Given the description of an element on the screen output the (x, y) to click on. 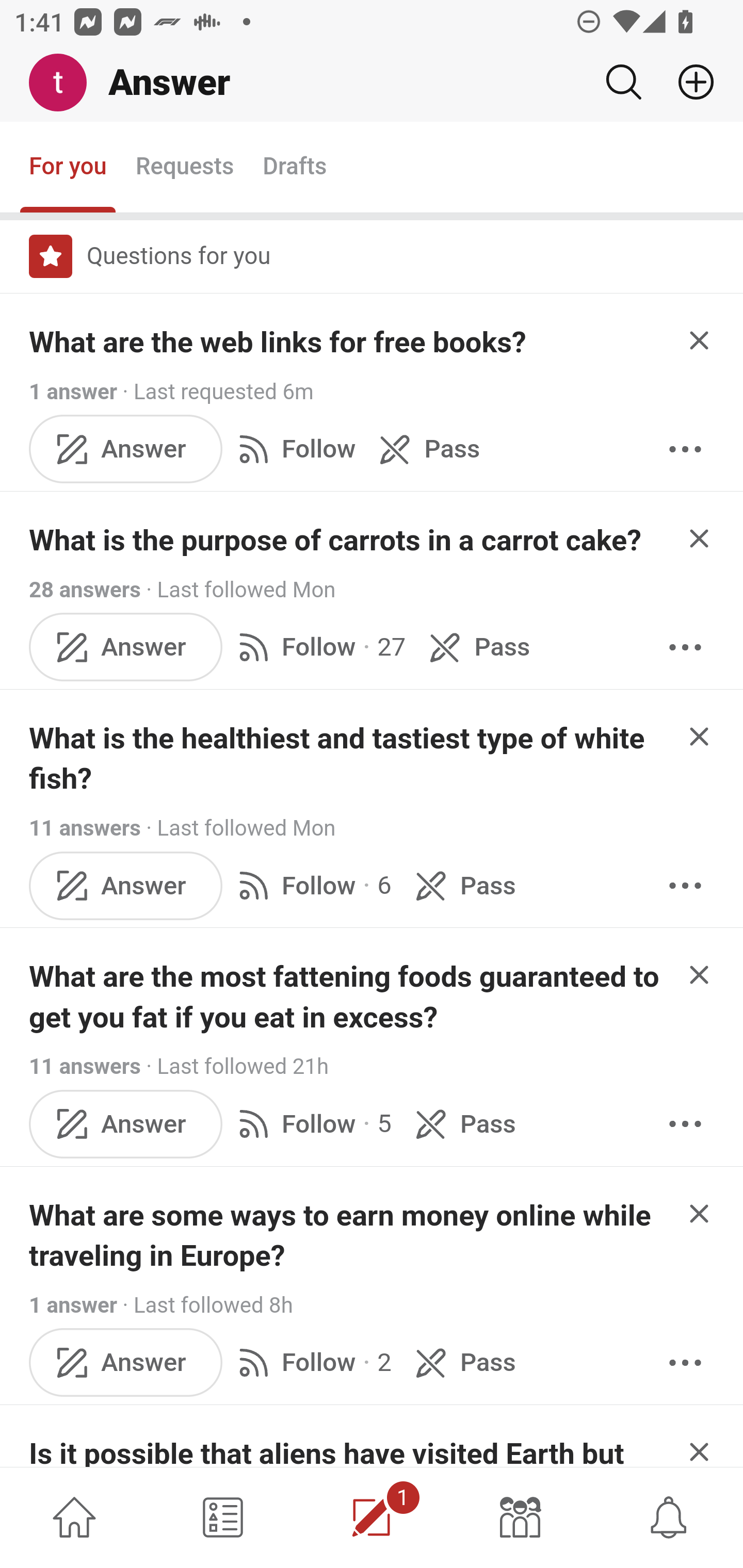
Me (64, 83)
Search (623, 82)
Add (688, 82)
For you (68, 167)
Requests (183, 167)
Drafts (295, 167)
Hide (699, 340)
What are the web links for free books? (277, 342)
1 answer 1  answer (73, 390)
Answer (125, 448)
Follow (293, 448)
Pass (425, 448)
More (684, 448)
Hide (699, 537)
What is the purpose of carrots in a carrot cake? (335, 540)
28 answers 28  answers (84, 590)
Answer (125, 648)
Follow · 27 (317, 648)
Pass (476, 648)
More (684, 648)
Hide (699, 735)
11 answers 11  answers (84, 828)
Answer (125, 886)
Follow · 6 (311, 886)
Pass (461, 886)
More (684, 886)
Hide (699, 974)
11 answers 11  answers (84, 1066)
Answer (125, 1123)
Follow · 5 (311, 1123)
Pass (461, 1123)
More (684, 1123)
Hide (699, 1212)
1 answer 1  answer (73, 1305)
Answer (125, 1362)
Follow · 2 (311, 1362)
Pass (461, 1362)
More (684, 1362)
Hide (699, 1442)
